Given the description of an element on the screen output the (x, y) to click on. 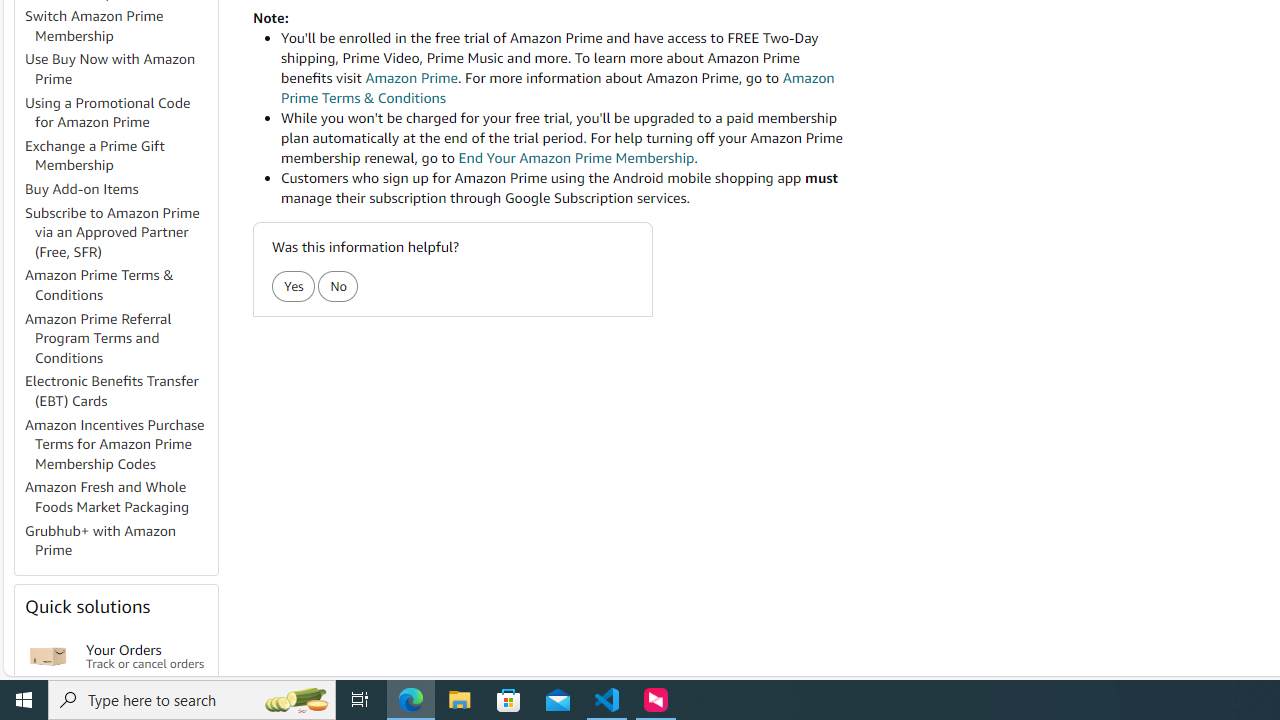
Using a Promotional Code for Amazon Prime (120, 112)
Buy Add-on Items (120, 190)
Exchange a Prime Gift Membership (95, 155)
Grubhub+ with Amazon Prime (100, 540)
Buy Add-on Items (82, 189)
Amazon Prime Referral Program Terms and Conditions (98, 337)
Amazon Fresh and Whole Foods Market Packaging (120, 497)
No (338, 286)
Amazon Fresh and Whole Foods Market Packaging (107, 497)
Electronic Benefits Transfer (EBT) Cards (120, 391)
Switch Amazon Prime Membership (94, 25)
Amazon Prime Terms & Conditions (99, 284)
Amazon Prime Terms & Conditions (120, 285)
